Given the description of an element on the screen output the (x, y) to click on. 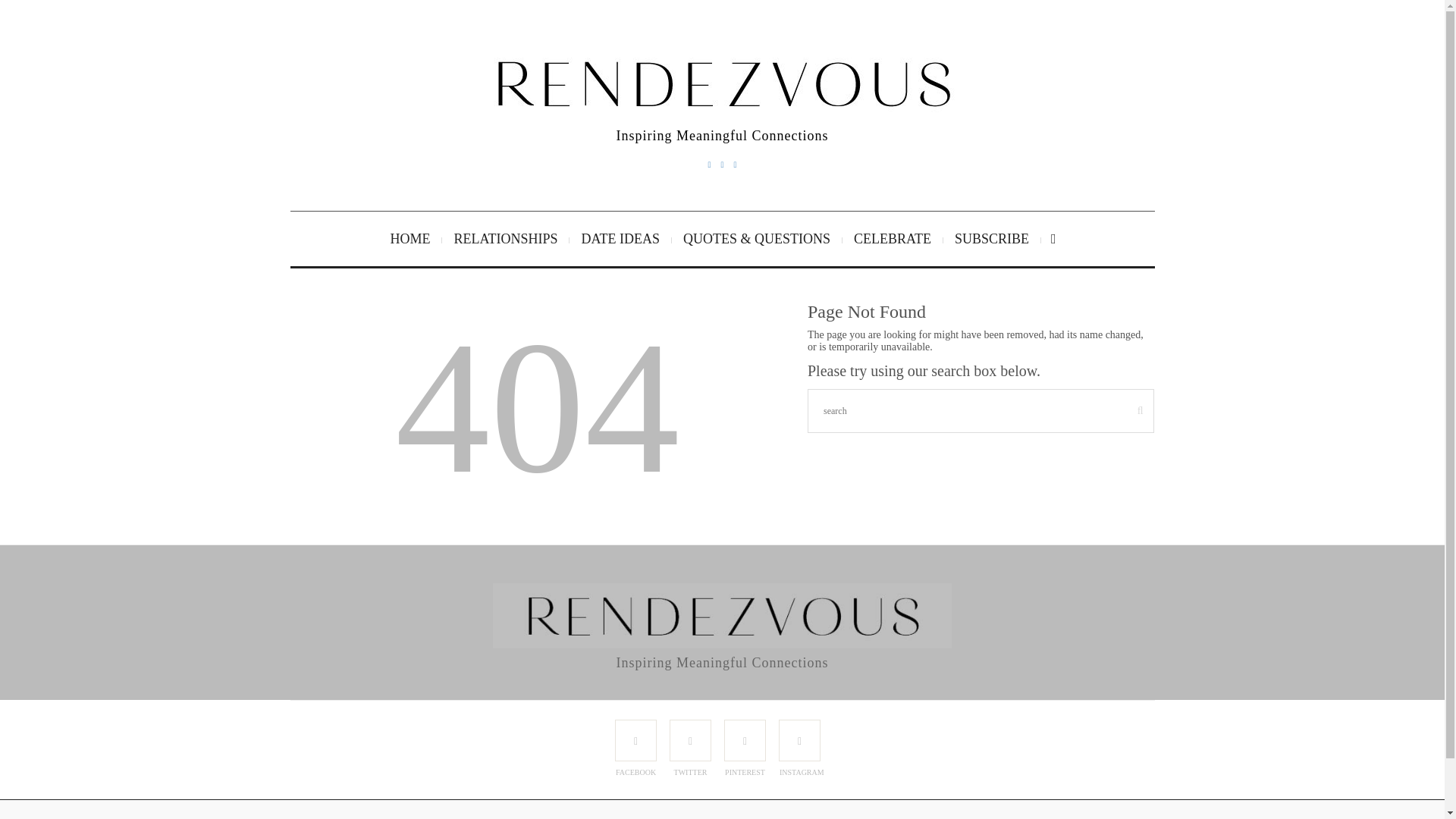
RELATIONSHIPS (505, 238)
HOME (410, 238)
CELEBRATE (893, 238)
Inspiring Meaningful Connections (722, 83)
SUBSCRIBE (992, 238)
TWITTER (690, 740)
FACEBOOK (635, 740)
DATE IDEAS (620, 238)
Inspiring Meaningful Connections (722, 615)
